Given the description of an element on the screen output the (x, y) to click on. 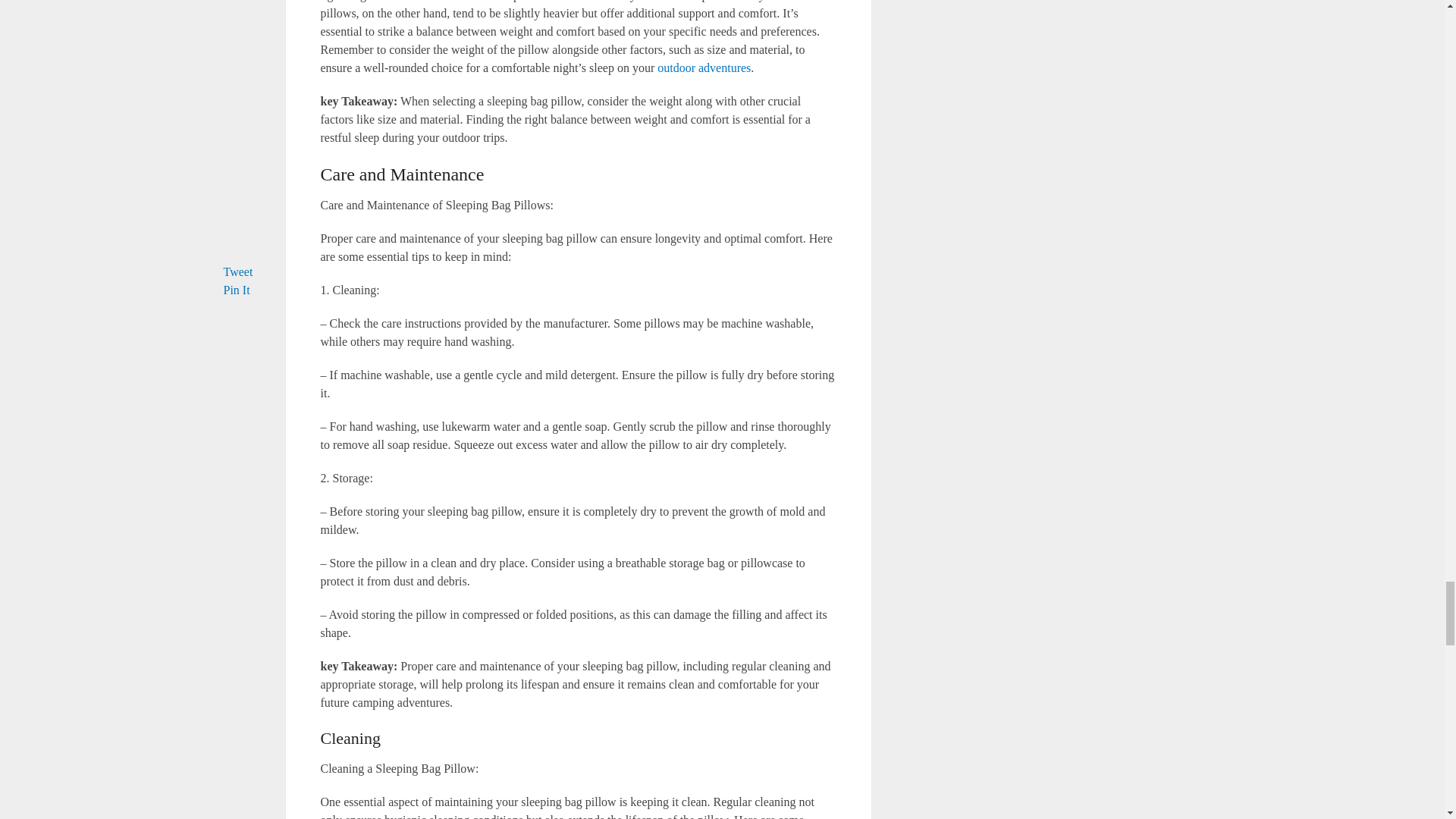
outdoor adventures (704, 67)
